Given the description of an element on the screen output the (x, y) to click on. 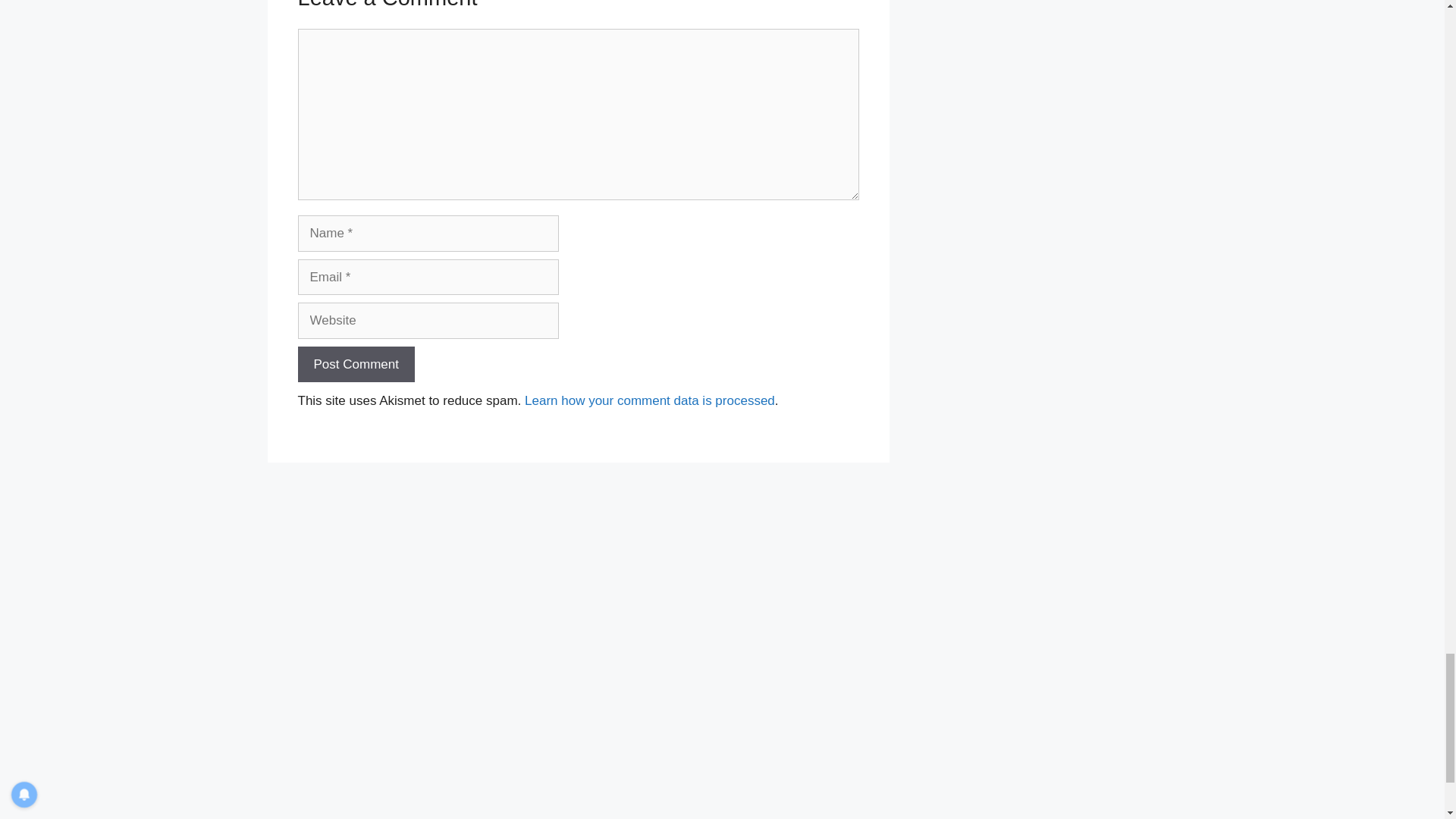
Post Comment (355, 364)
Post Comment (355, 364)
Learn how your comment data is processed (649, 400)
